Given the description of an element on the screen output the (x, y) to click on. 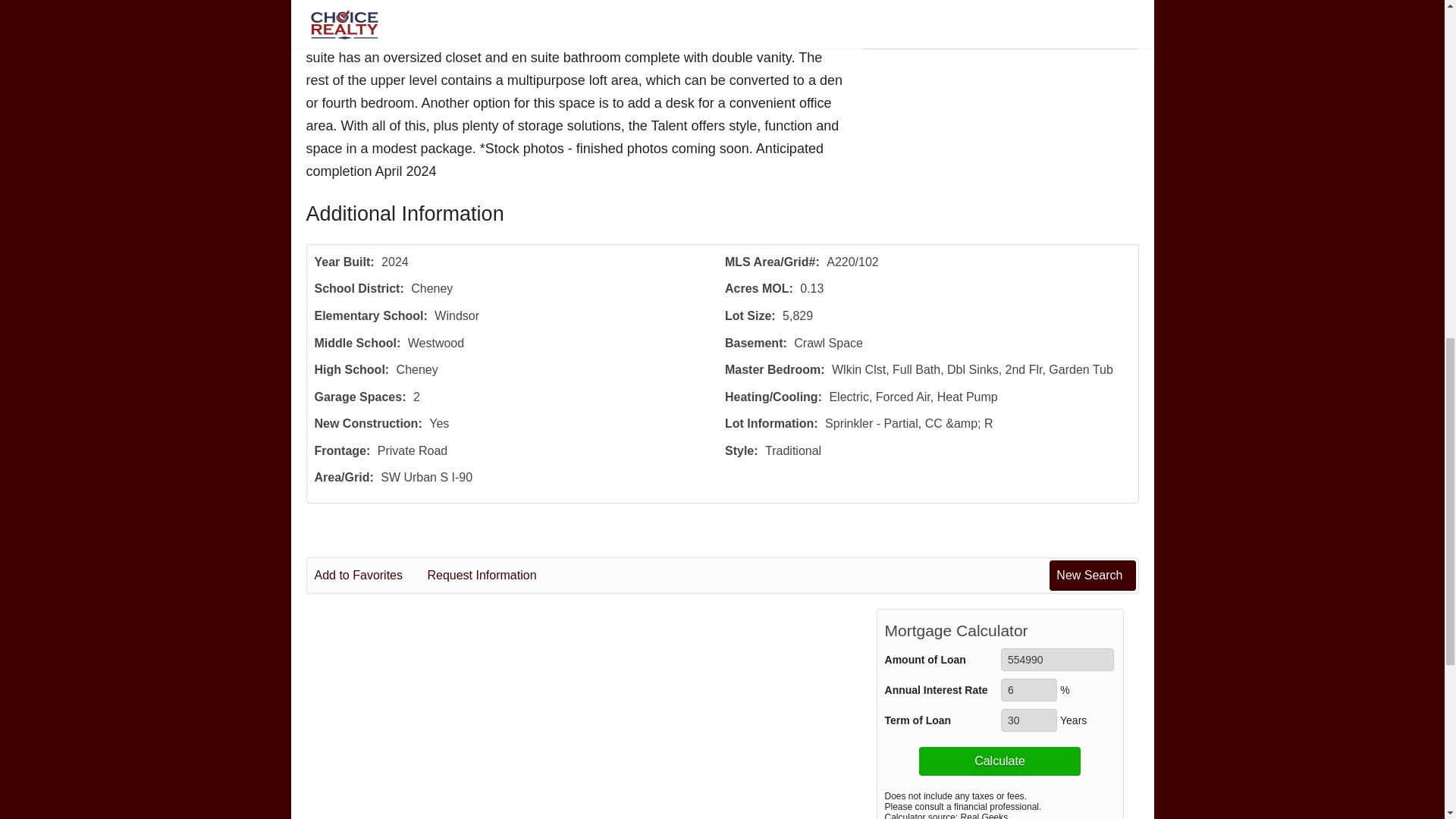
6 (1029, 689)
Contact Us (999, 16)
30 (1029, 720)
554990 (1057, 659)
